Given the description of an element on the screen output the (x, y) to click on. 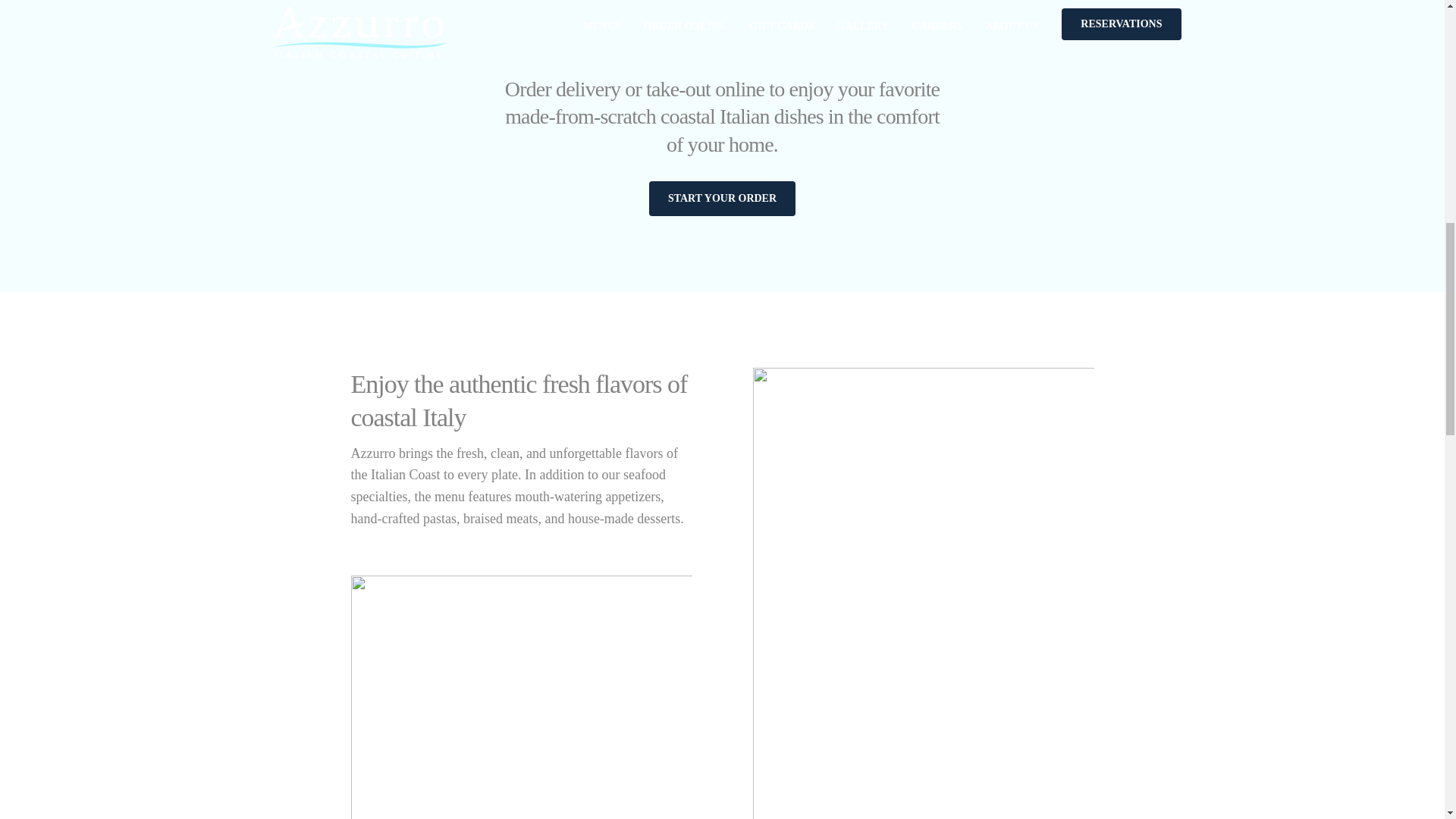
START YOUR ORDER (721, 198)
patio-seating (520, 697)
